Given the description of an element on the screen output the (x, y) to click on. 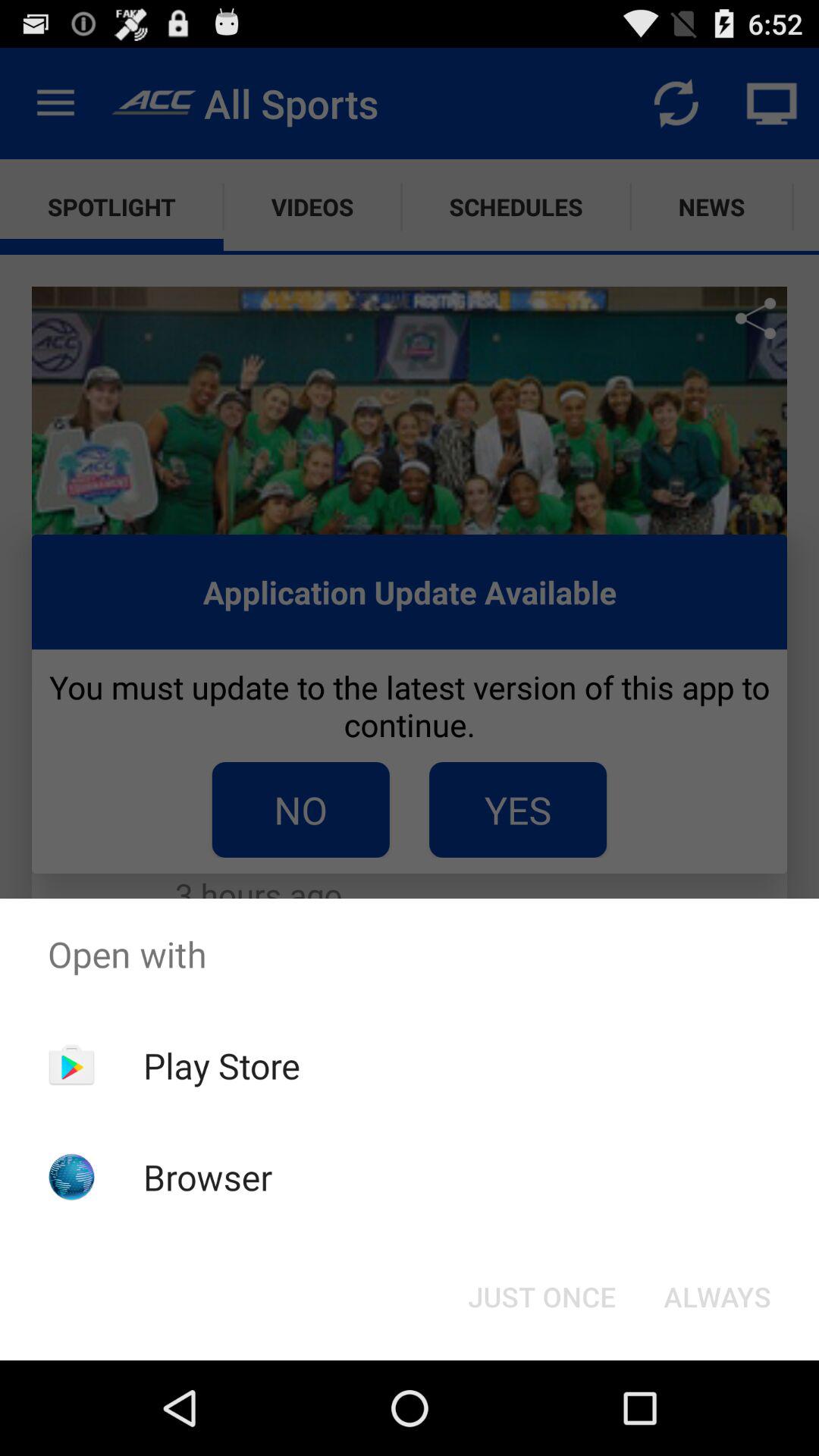
launch play store (221, 1065)
